Given the description of an element on the screen output the (x, y) to click on. 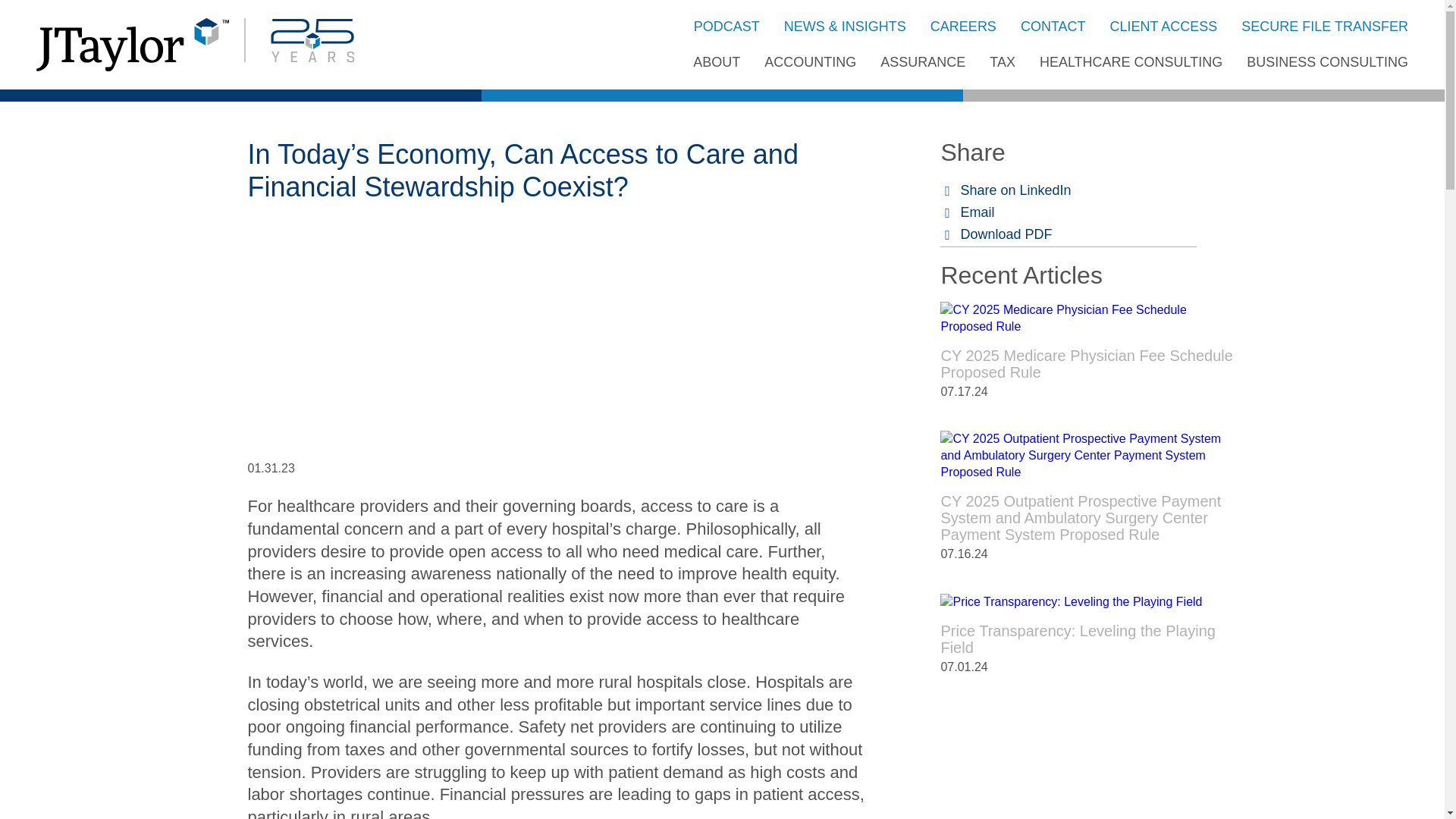
TAX (1002, 61)
ABOUT (716, 61)
PODCAST (727, 26)
CAREERS (962, 26)
CLIENT ACCESS (1163, 26)
ASSURANCE (922, 61)
SECURE FILE TRANSFER (1324, 26)
CONTACT (1053, 26)
ACCOUNTING (810, 61)
